Given the description of an element on the screen output the (x, y) to click on. 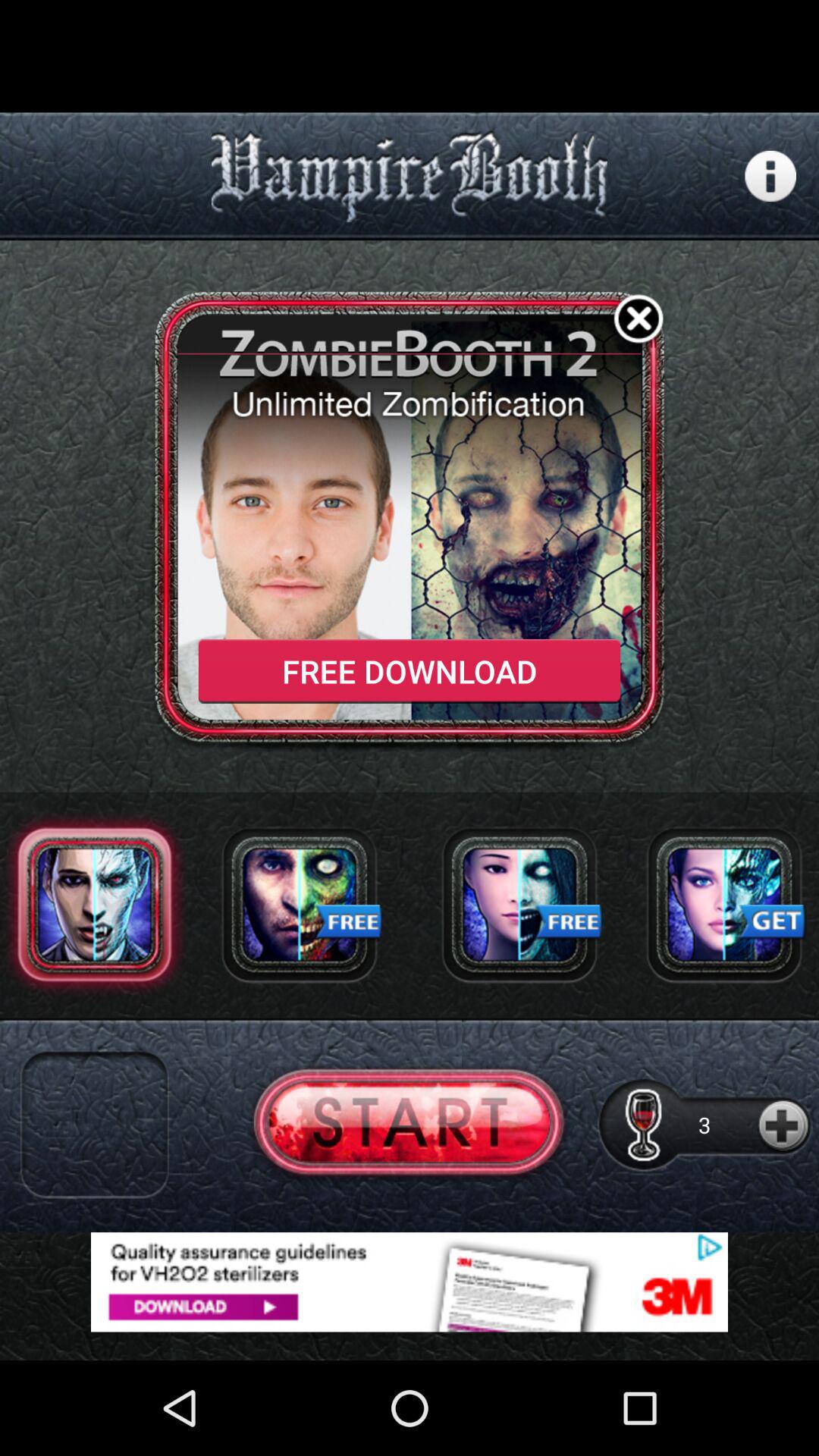
start button (409, 1124)
